Given the description of an element on the screen output the (x, y) to click on. 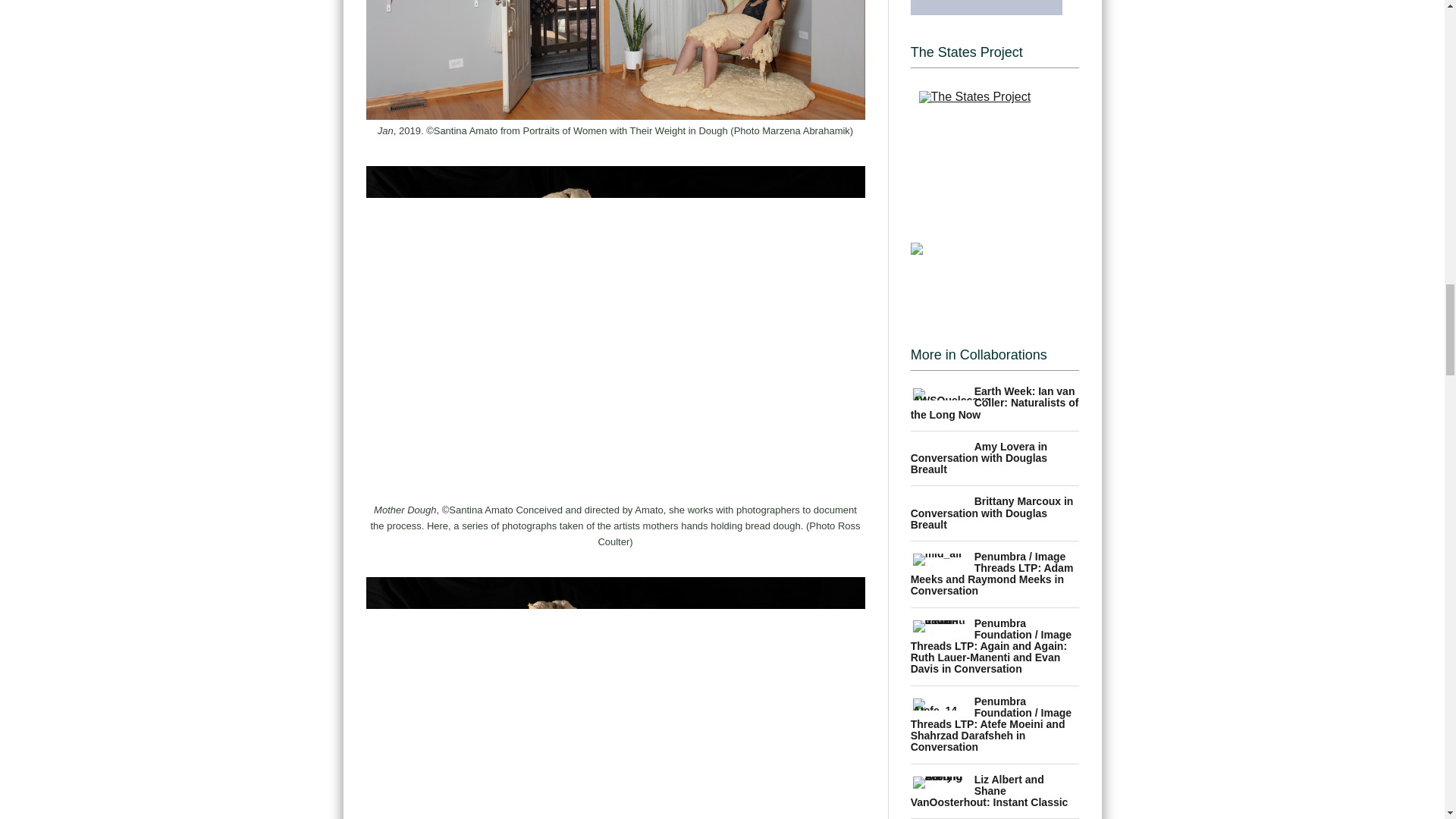
The States Project (994, 139)
